Given the description of an element on the screen output the (x, y) to click on. 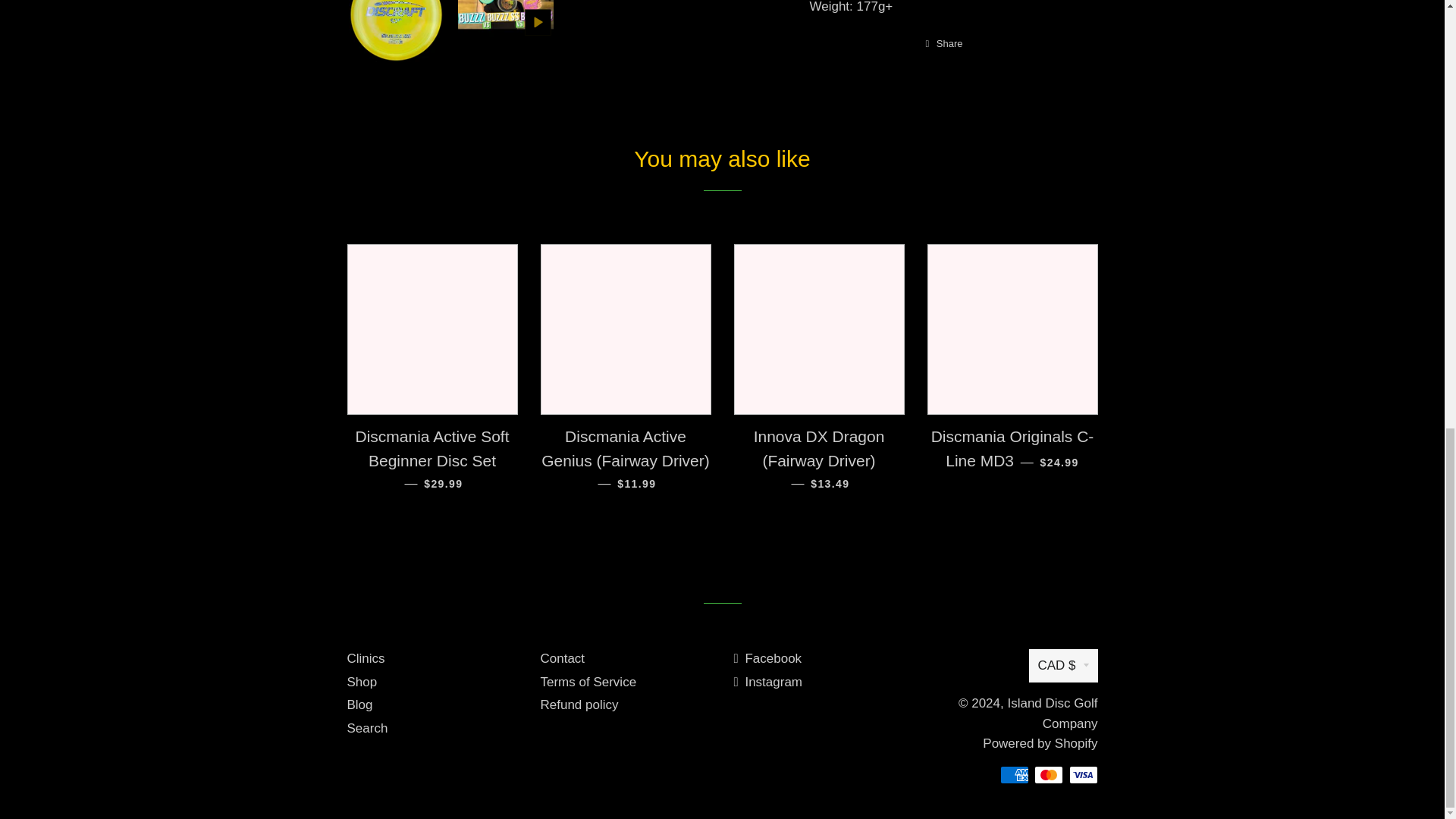
Share on Facebook (943, 43)
Island Disc Golf Company on Instagram (768, 681)
Island Disc Golf Company on Facebook (767, 658)
Visa (1082, 774)
American Express (1012, 774)
Mastercard (1047, 774)
